Given the description of an element on the screen output the (x, y) to click on. 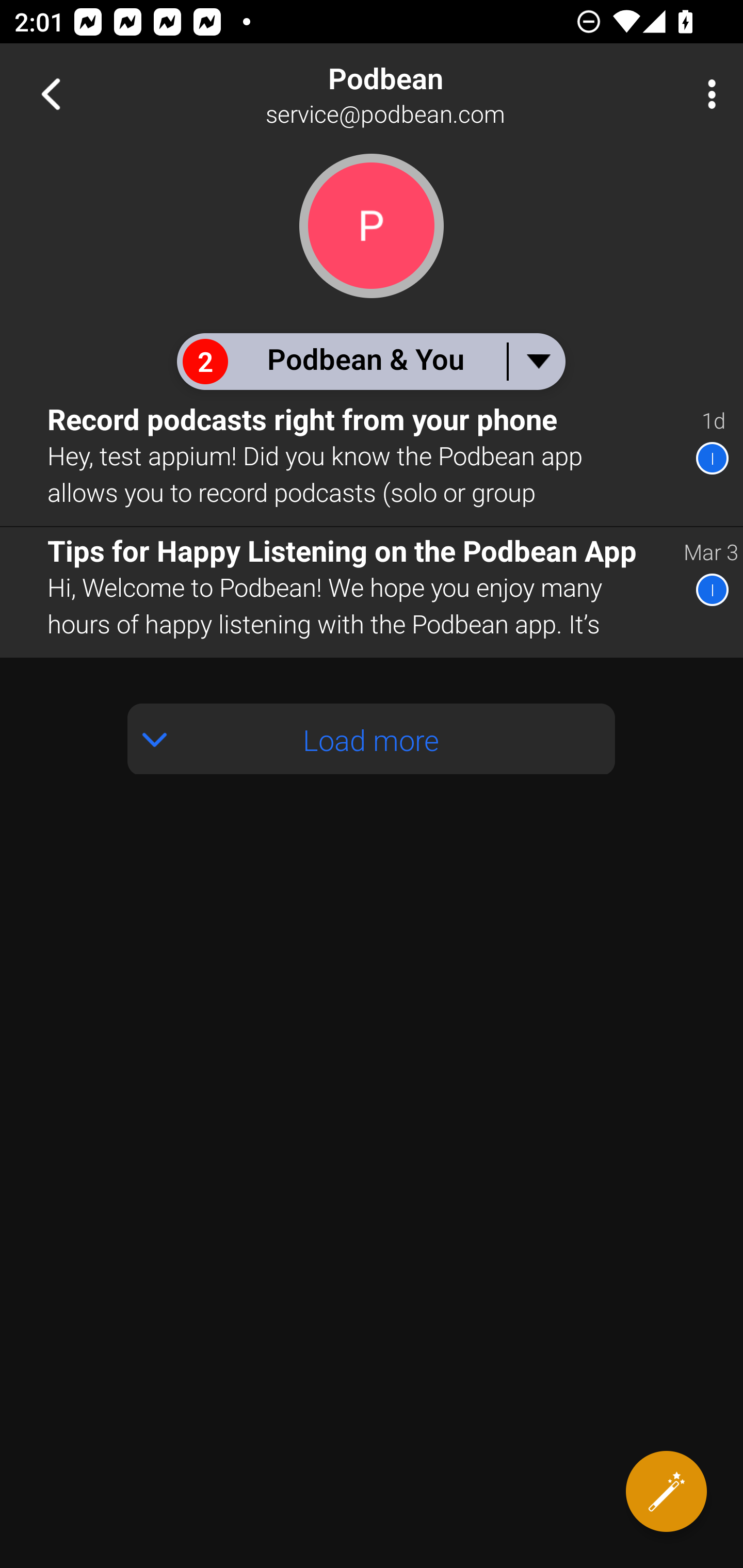
Navigate up (50, 93)
Podbean service@podbean.com (436, 93)
More Options (706, 93)
2 Podbean & You (370, 361)
Load more (371, 739)
